Given the description of an element on the screen output the (x, y) to click on. 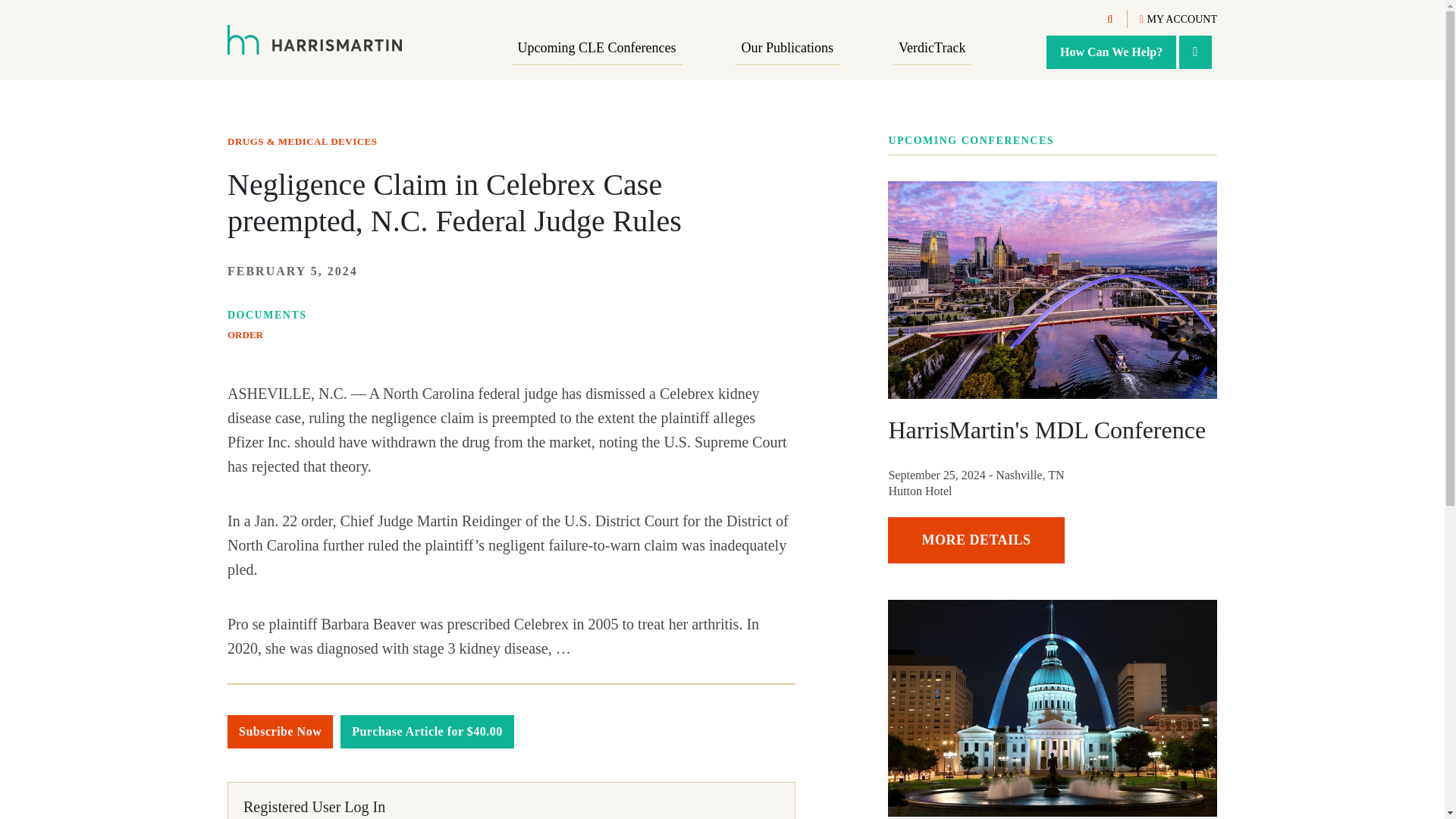
Upcoming CLE Conferences (597, 48)
How Can We Help? (1111, 52)
MY ACCOUNT (1177, 19)
Our Publications (787, 48)
MORE DETAILS (976, 539)
Subscribe Now (280, 731)
VerdicTrack (931, 48)
